Given the description of an element on the screen output the (x, y) to click on. 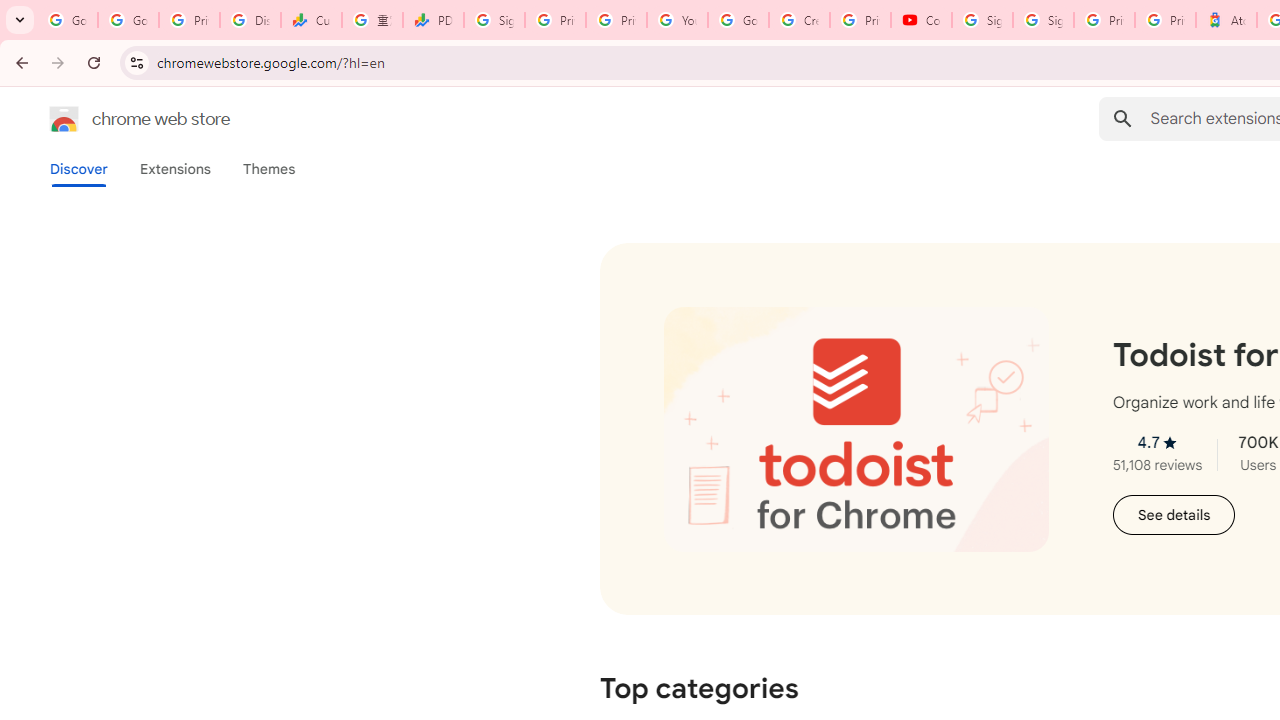
Currencies - Google Finance (310, 20)
PDD Holdings Inc - ADR (PDD) Price & News - Google Finance (433, 20)
Privacy Checkup (616, 20)
Extensions (174, 169)
Atour Hotel - Google hotels (1225, 20)
Content Creator Programs & Opportunities - YouTube Creators (921, 20)
Google Workspace Admin Community (67, 20)
